Given the description of an element on the screen output the (x, y) to click on. 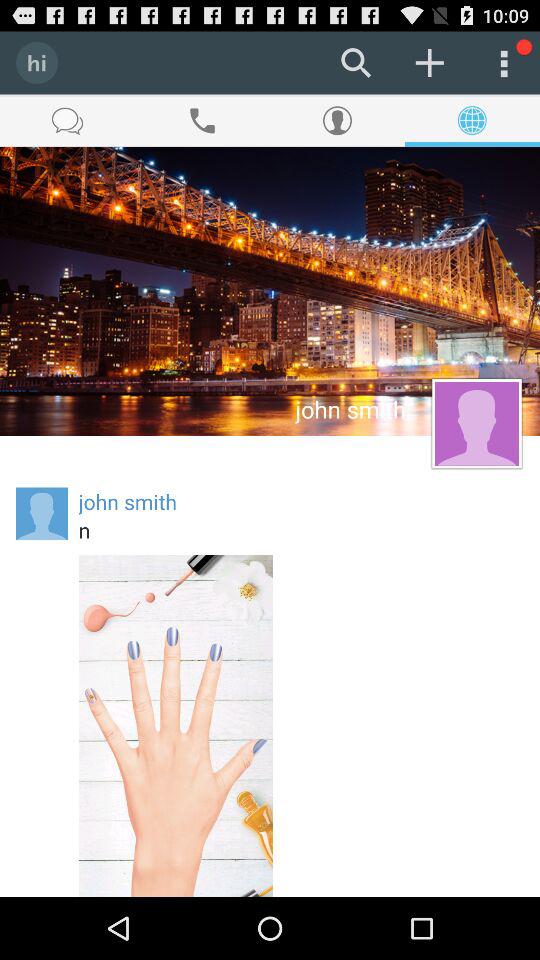
tap the item at the bottom left corner (175, 725)
